Given the description of an element on the screen output the (x, y) to click on. 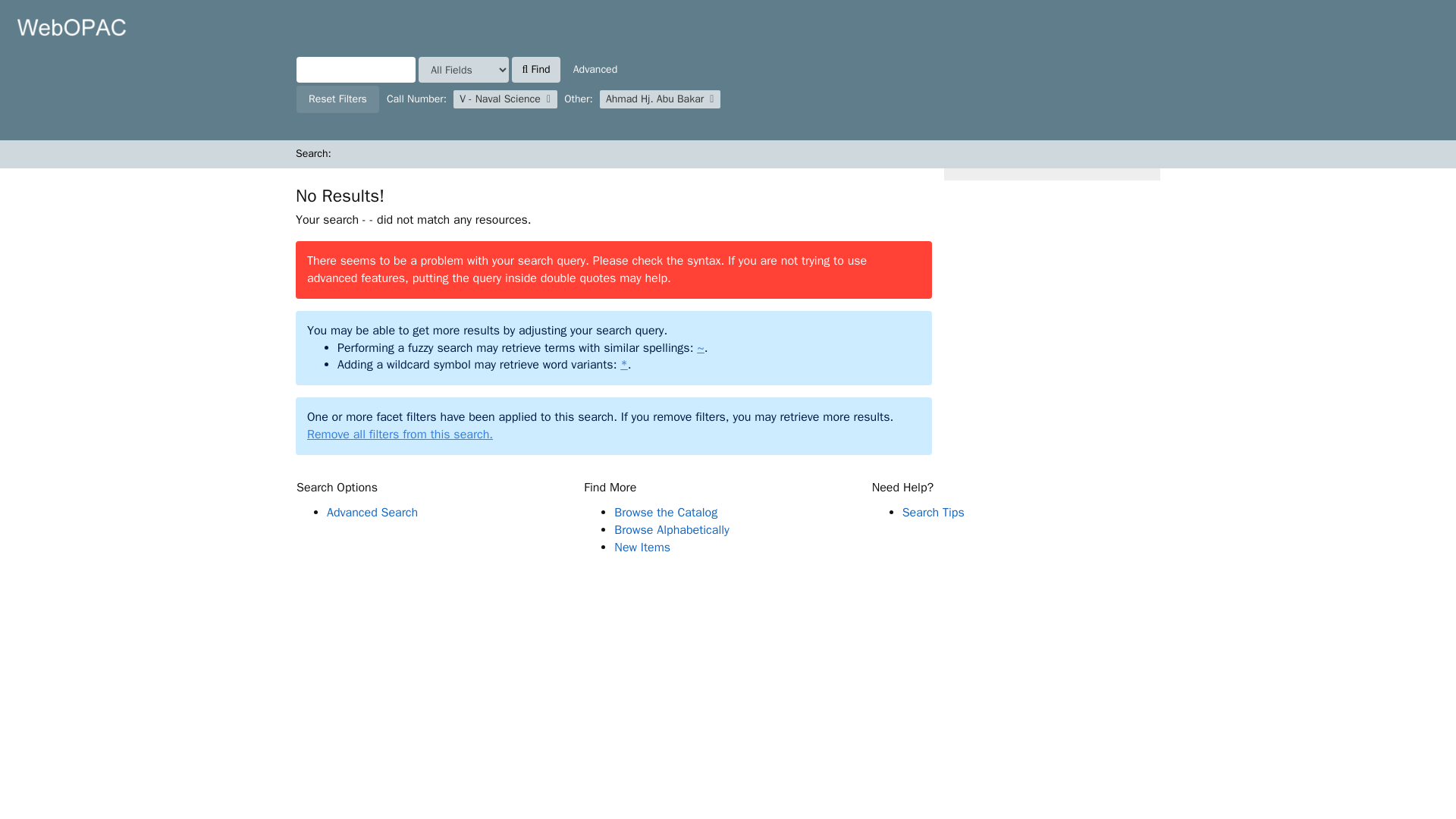
Browse Alphabetically (671, 529)
Find (535, 69)
New Items (641, 547)
Reset Filters (337, 99)
Browse the Catalog (665, 512)
Advanced Search (371, 512)
Skip to content (34, 7)
Advanced (595, 69)
VuFind (71, 26)
Remove all filters from this search. (400, 434)
Search Tips (932, 512)
